Given the description of an element on the screen output the (x, y) to click on. 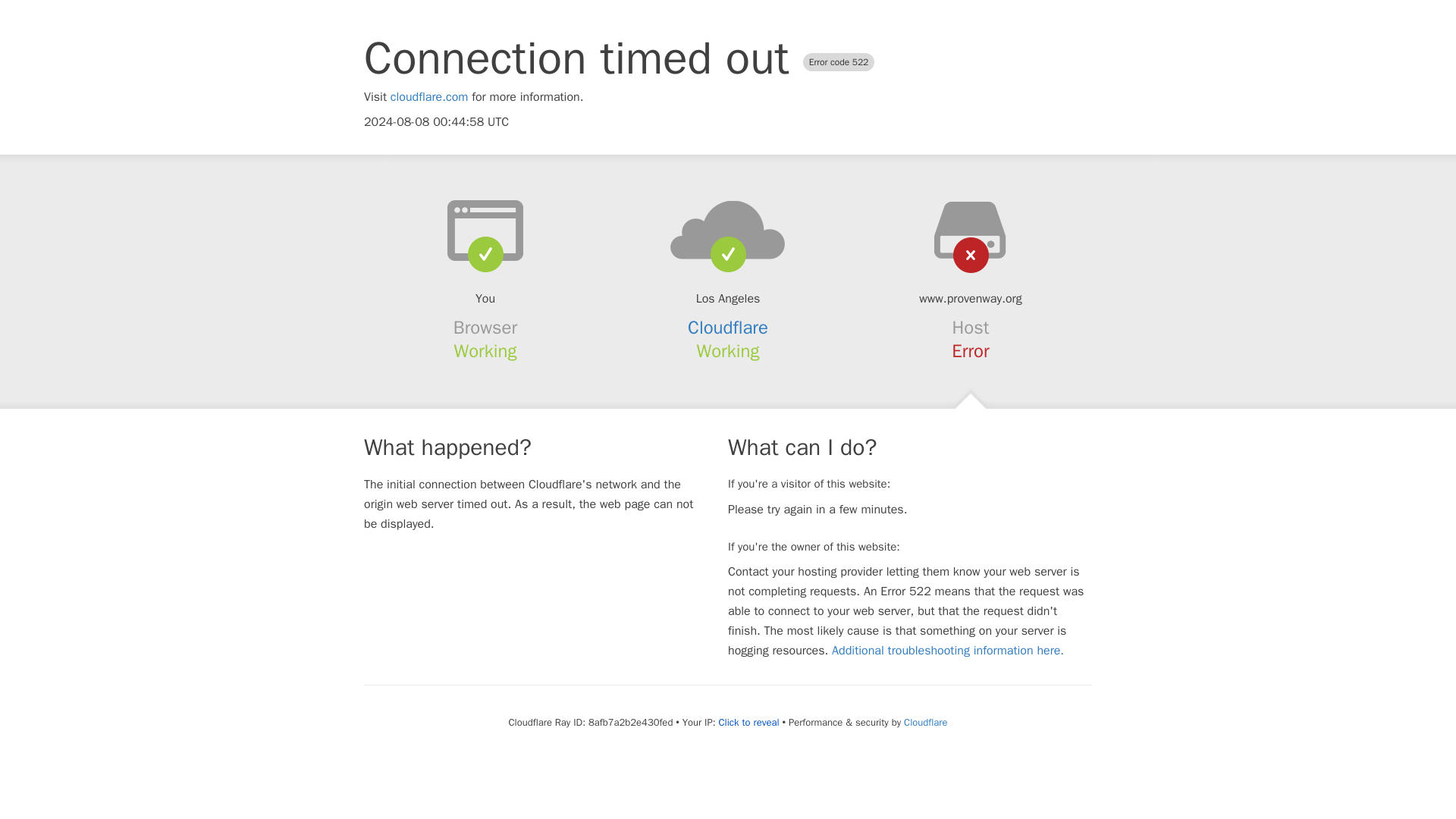
cloudflare.com (429, 96)
Cloudflare (727, 327)
Click to reveal (748, 722)
Cloudflare (925, 721)
Additional troubleshooting information here. (947, 650)
